Given the description of an element on the screen output the (x, y) to click on. 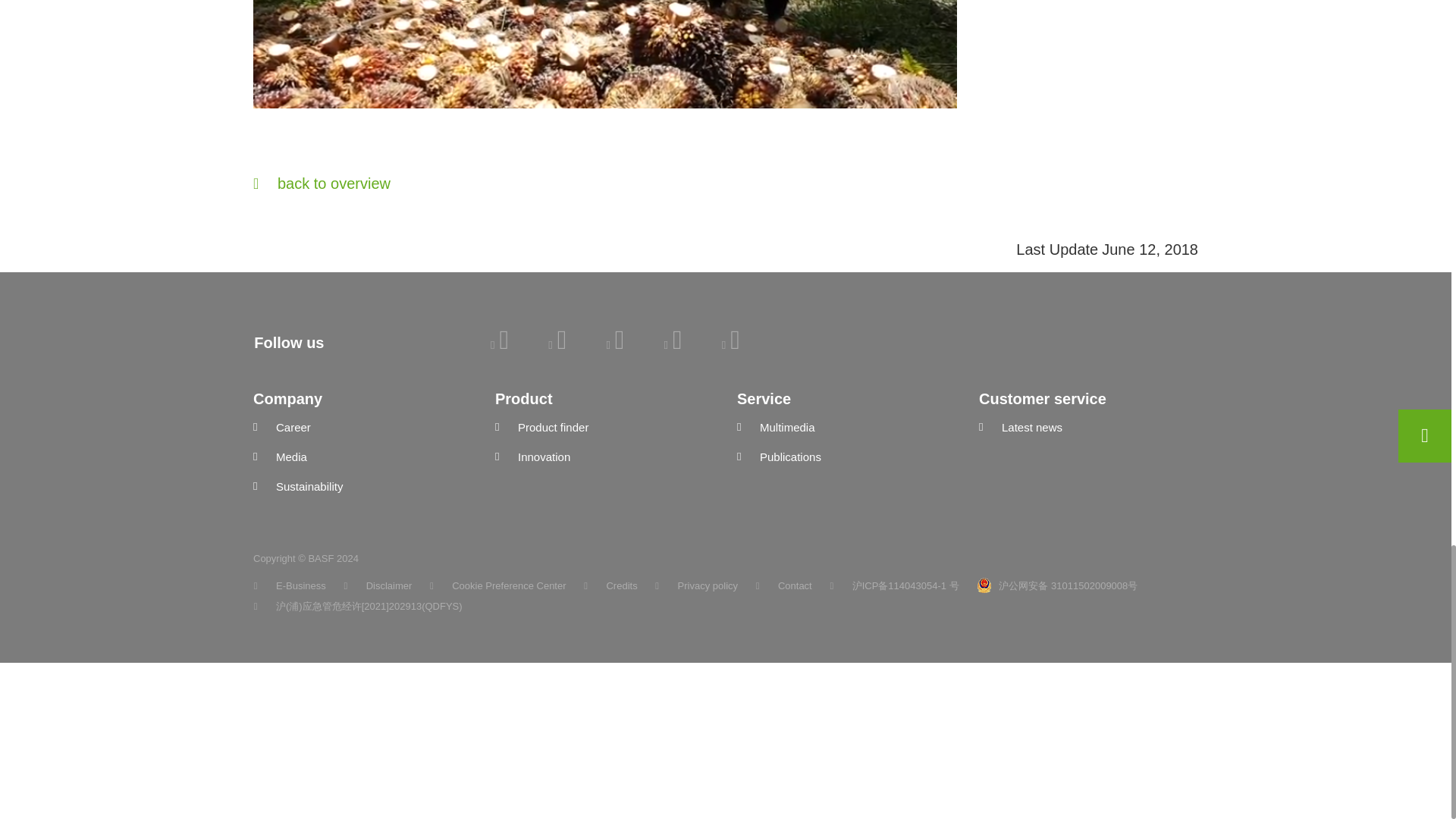
Career (362, 427)
Innovation (604, 457)
Latest news (1088, 427)
Multimedia (846, 427)
Career (362, 427)
E-Business (289, 585)
Sustainability (362, 487)
back to overview (725, 183)
Join us in LinkedIn (499, 344)
Publications (846, 457)
